Given the description of an element on the screen output the (x, y) to click on. 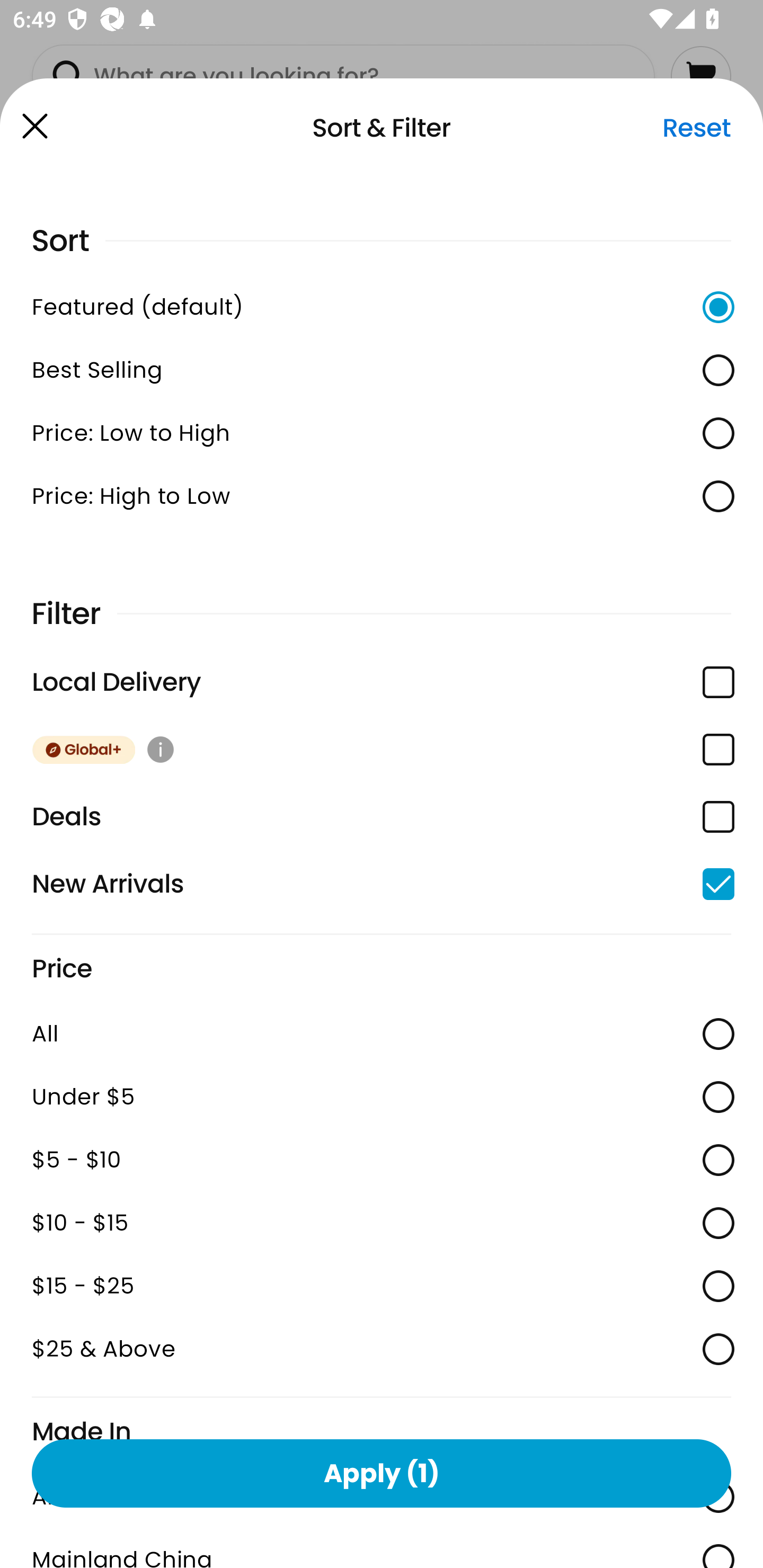
Reset (696, 127)
Apply (1) (381, 1472)
